Given the description of an element on the screen output the (x, y) to click on. 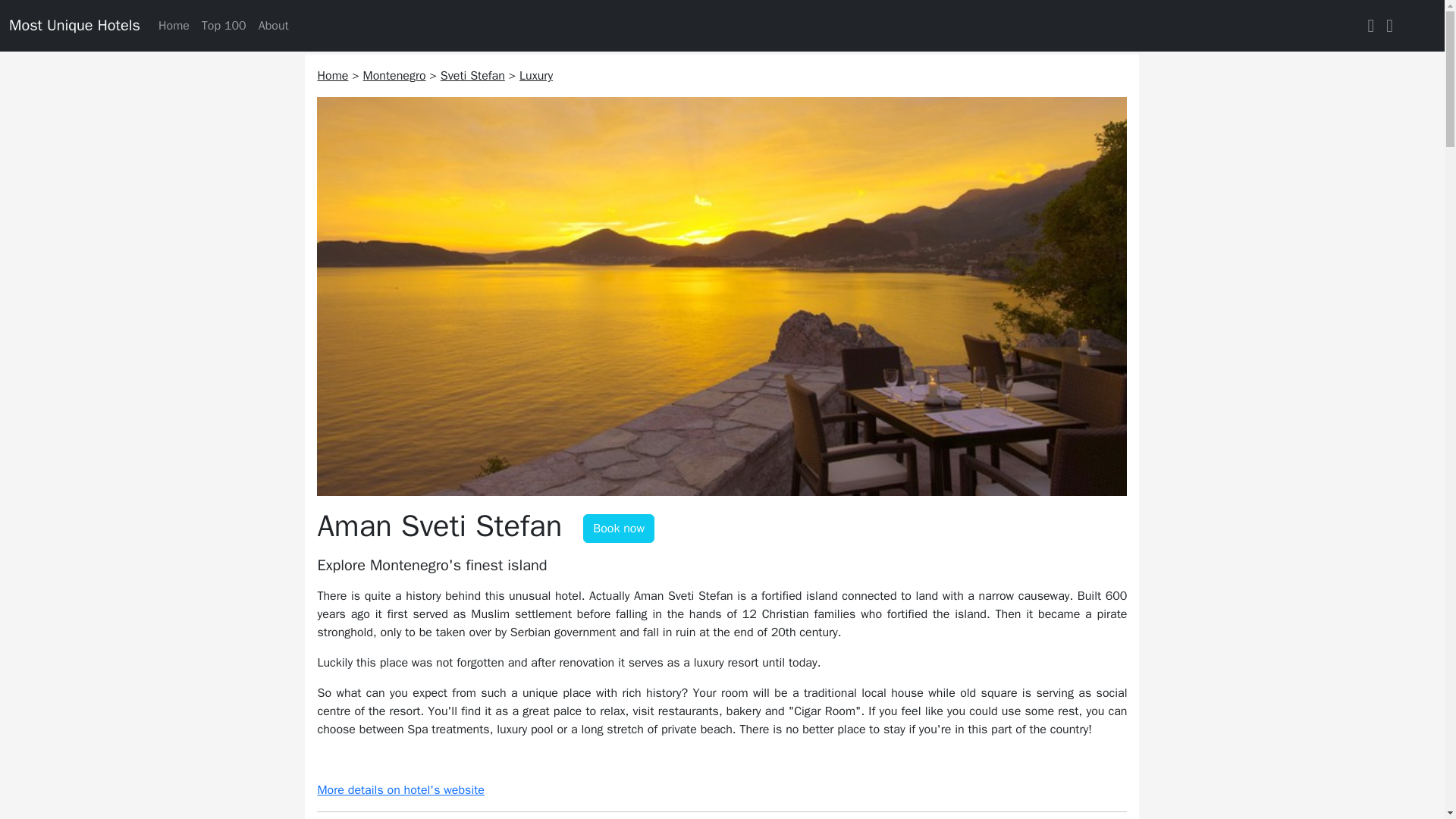
Luxury (536, 75)
Tooltip on left (618, 528)
More details on hotel's website (400, 789)
Montenegro (394, 75)
Most Unique Hotels (73, 25)
Sveti Stefan (473, 75)
Book now (618, 528)
Top 100 (223, 25)
Home (332, 75)
About (273, 25)
